Given the description of an element on the screen output the (x, y) to click on. 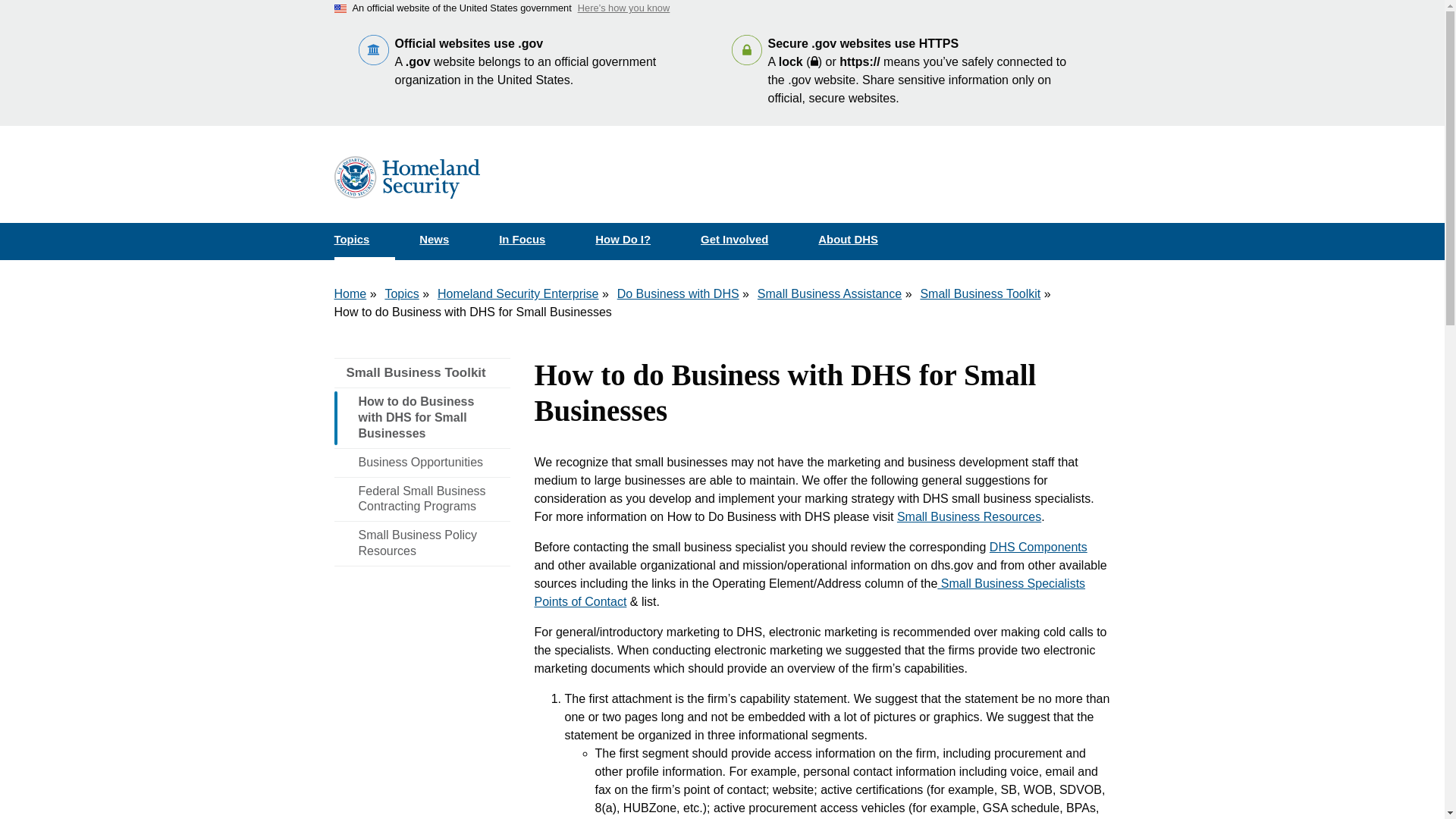
Get Involved (747, 239)
Small Business Policy Resources (421, 543)
Small Business Assistance (829, 293)
Homeland Security Enterprise (518, 293)
Small Business Toolkit (421, 372)
How to do Business with DHS for Small Businesses (421, 417)
Federal Small Business Contracting Programs (421, 499)
News (446, 239)
Small Business Toolkit (421, 372)
